Given the description of an element on the screen output the (x, y) to click on. 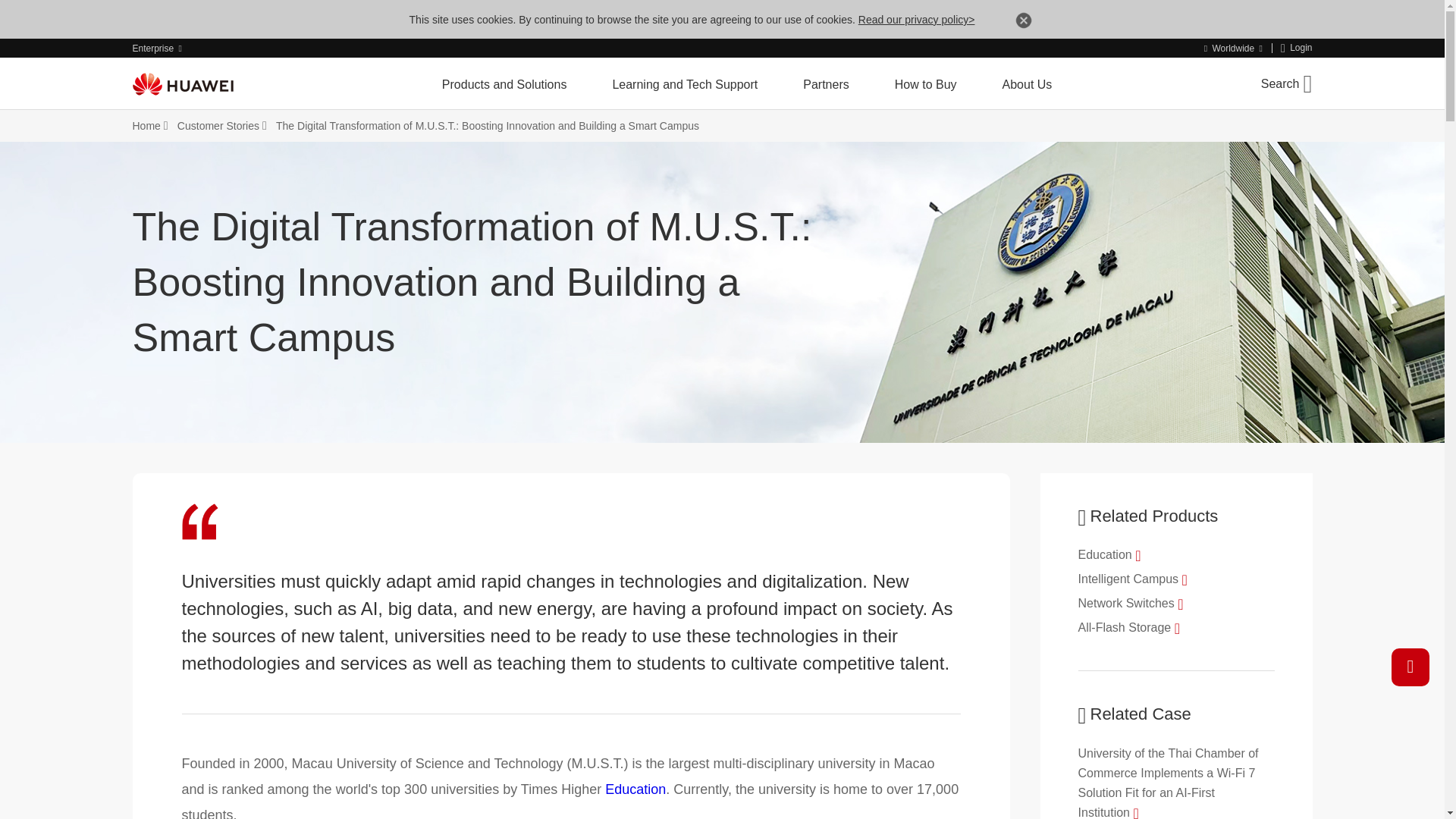
Huawei (182, 83)
Login (1296, 48)
Close (1023, 22)
